Given the description of an element on the screen output the (x, y) to click on. 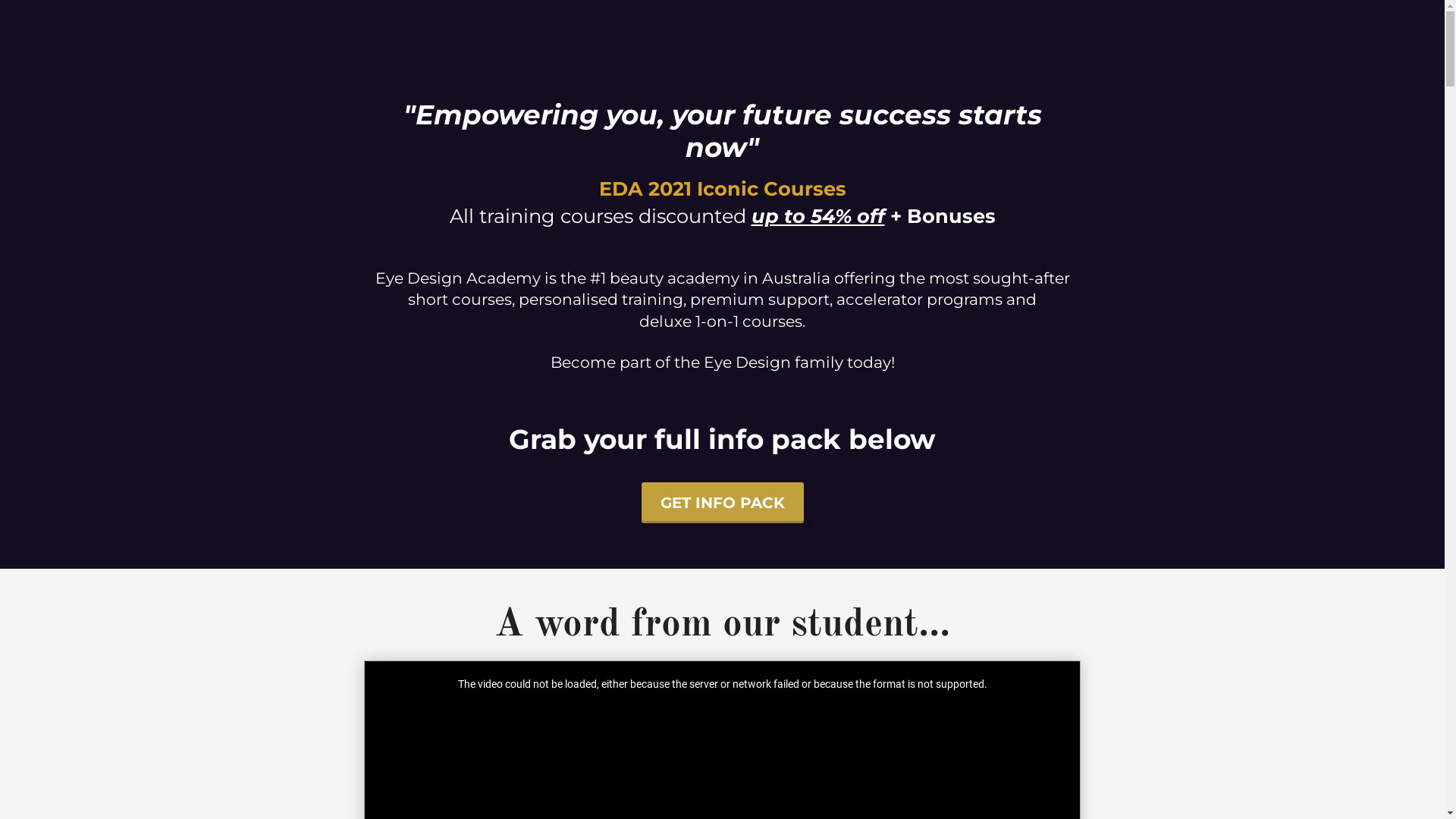
GET INFO PACK Element type: text (722, 503)
